Given the description of an element on the screen output the (x, y) to click on. 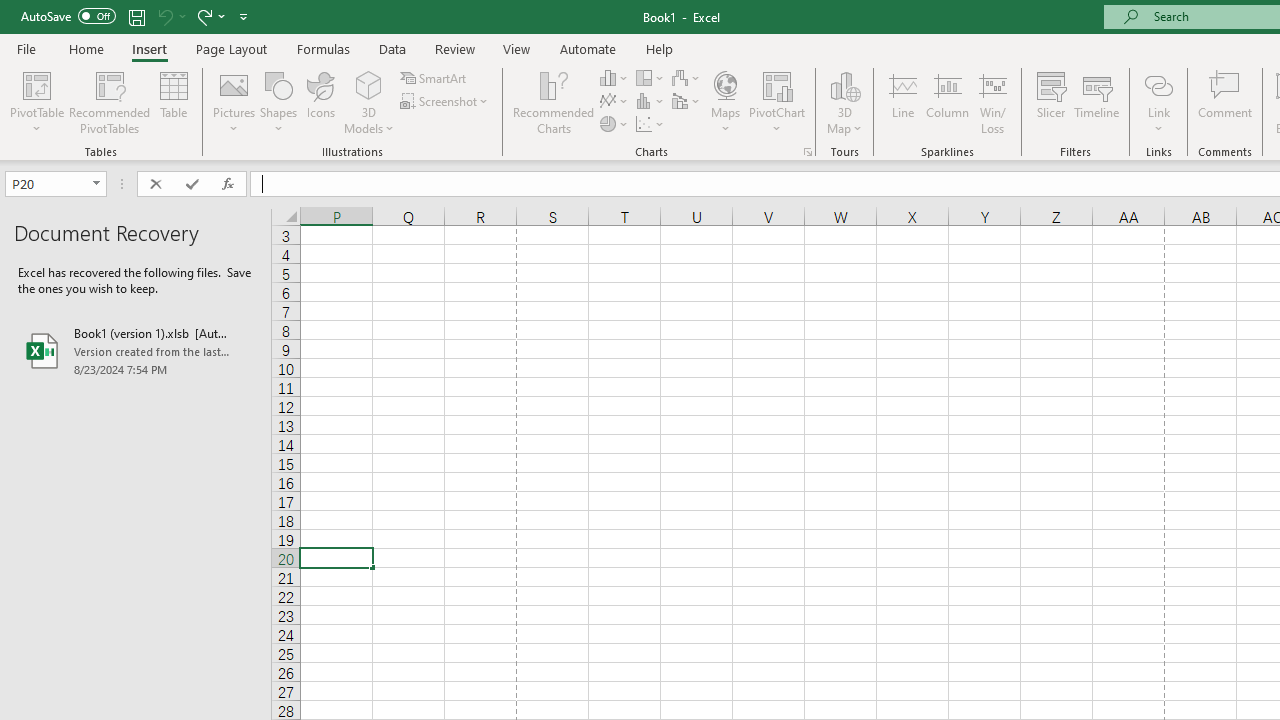
Link (1158, 102)
Shapes (278, 102)
Insert Scatter (X, Y) or Bubble Chart (651, 124)
Insert Pie or Doughnut Chart (614, 124)
Insert Combo Chart (687, 101)
Line (902, 102)
PivotTable (36, 102)
Column (947, 102)
